Given the description of an element on the screen output the (x, y) to click on. 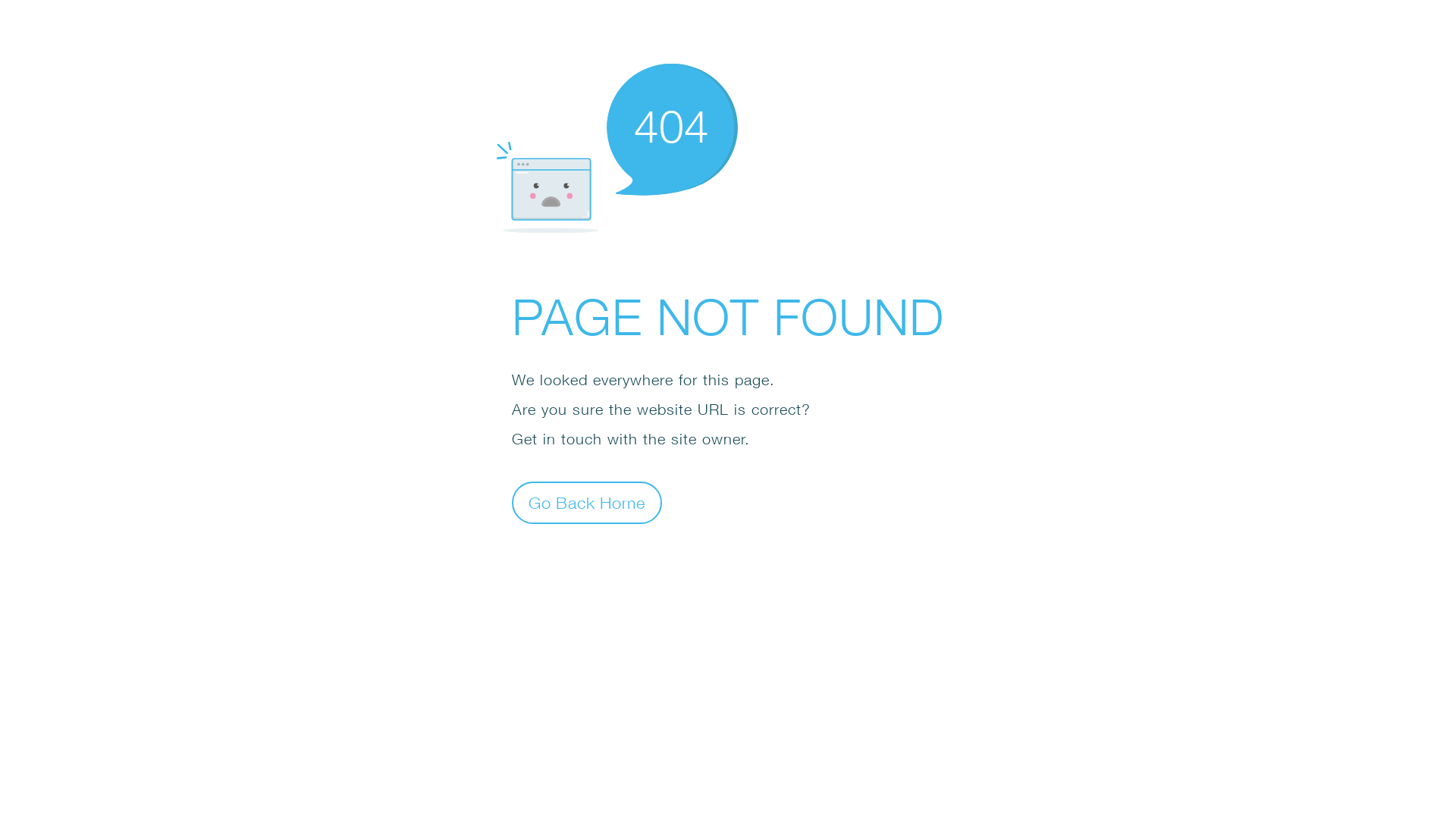
Go Back Home Element type: text (586, 502)
